Given the description of an element on the screen output the (x, y) to click on. 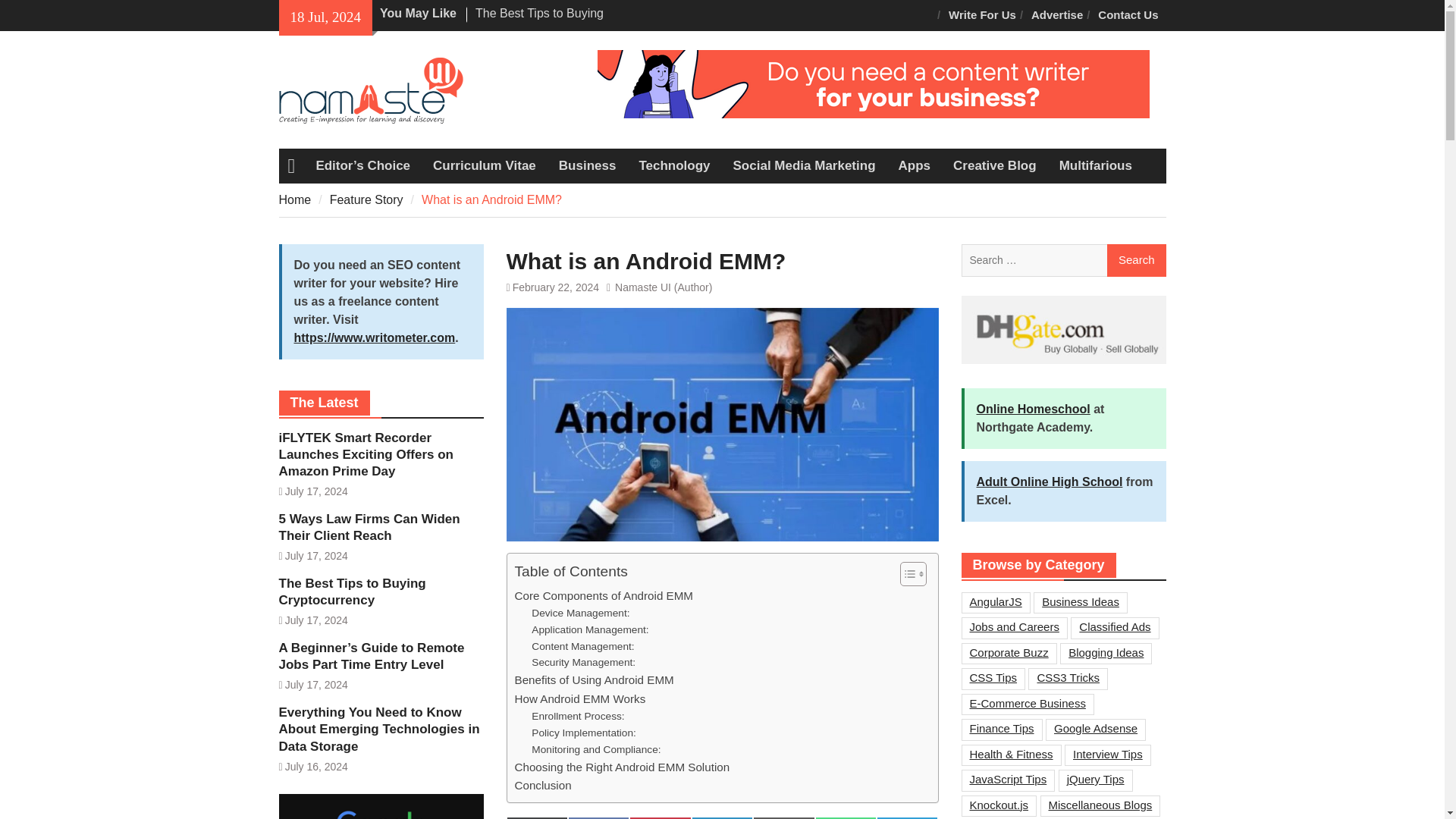
Contact Us (1128, 15)
Multifarious (1095, 165)
Search (1136, 260)
Choosing the Right Android EMM Solution (621, 767)
Technology (673, 165)
Feature Story (366, 198)
Security Management:  (585, 662)
Write For Us (981, 15)
Advertise (1056, 15)
Curriculum Vitae (484, 165)
WritoMeter - Best Content Writing Agency (873, 82)
Application Management:  (590, 629)
How Android EMM Works (579, 699)
